Given the description of an element on the screen output the (x, y) to click on. 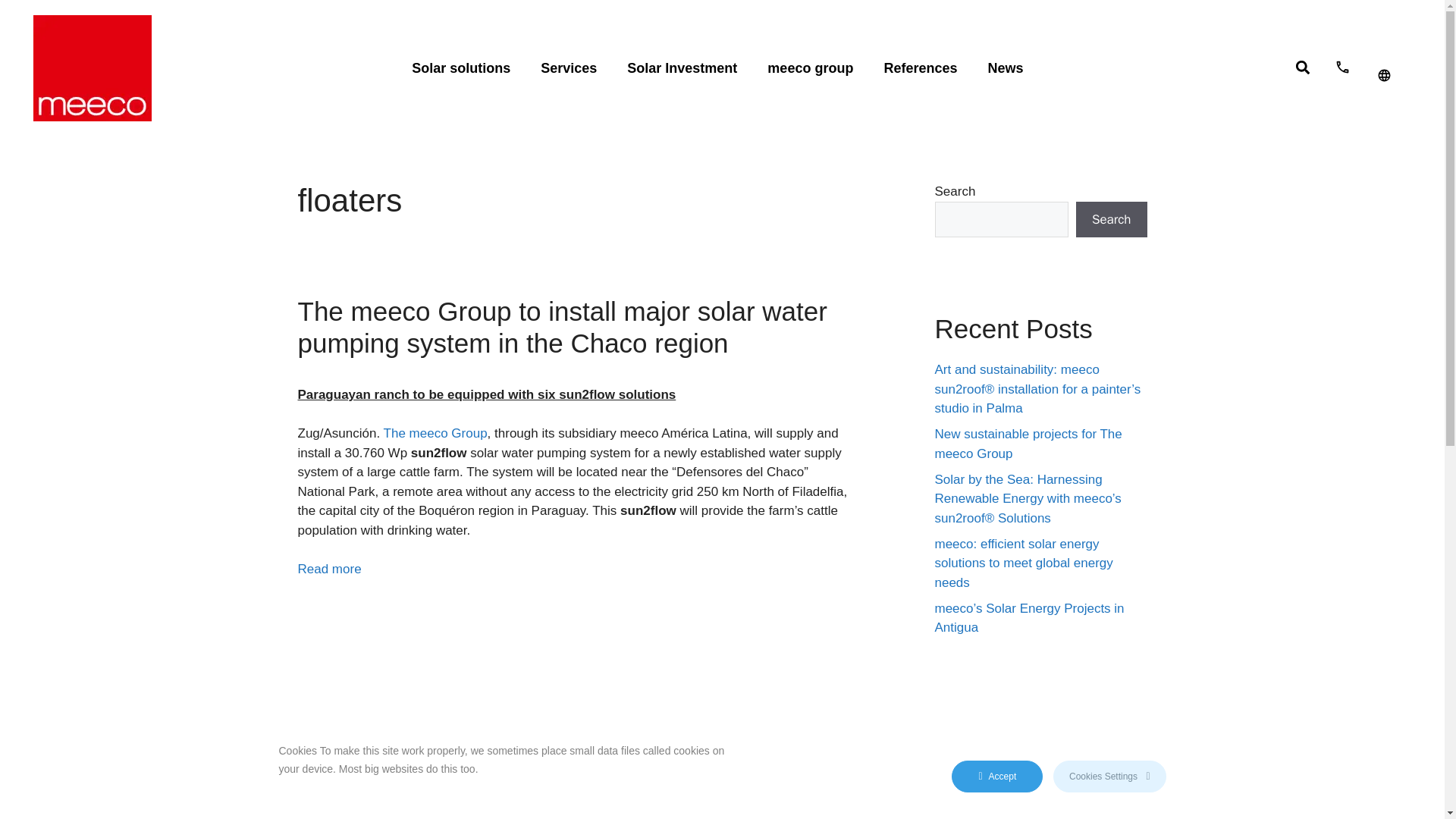
Services (568, 67)
Solar Investment (681, 67)
News (1005, 67)
meeco group (809, 67)
References (919, 67)
Solar solutions (460, 67)
